Given the description of an element on the screen output the (x, y) to click on. 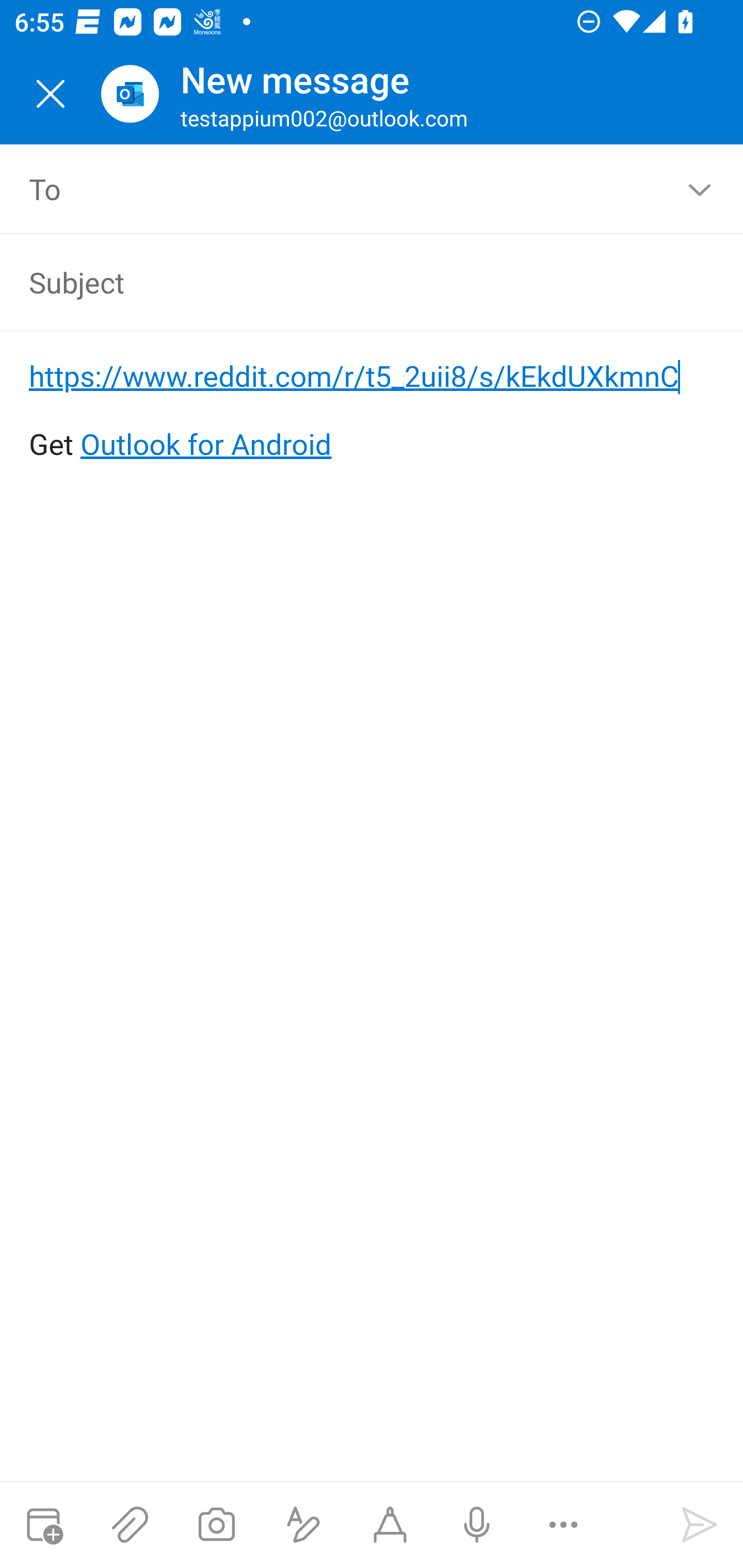
Close (50, 93)
Subject (342, 281)
Attach meeting (43, 1524)
Attach files (129, 1524)
Take a photo (216, 1524)
Show formatting options (303, 1524)
Start Ink compose (389, 1524)
Dictation (476, 1524)
More options (563, 1524)
Send (699, 1524)
